Given the description of an element on the screen output the (x, y) to click on. 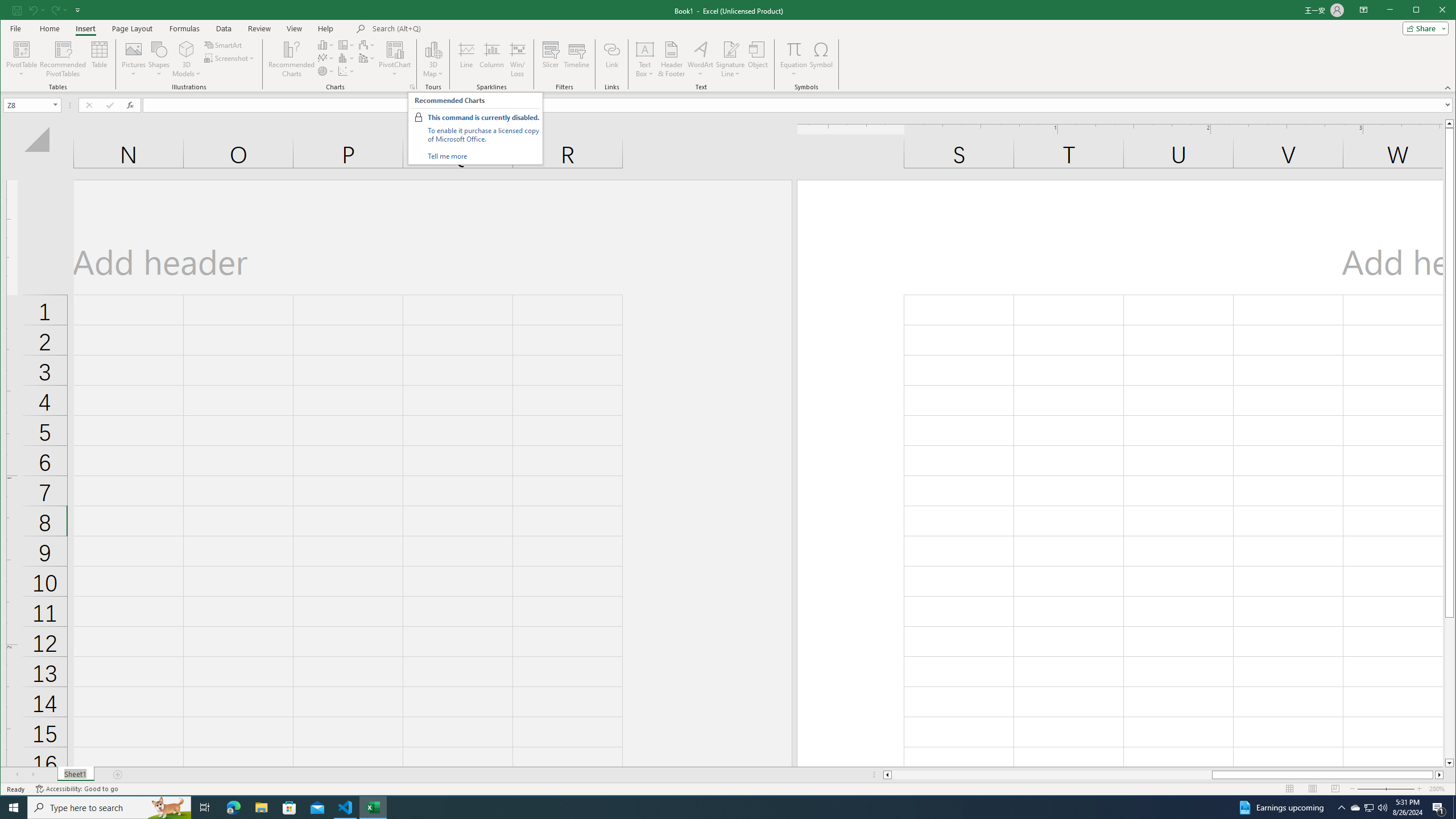
Notification Chevron (1341, 807)
Header & Footer... (1355, 807)
Microsoft Store (670, 59)
PivotTable (289, 807)
Symbol... (22, 48)
Win/Loss (821, 59)
Show desktop (517, 59)
Insert Scatter (X, Y) or Bubble Chart (1454, 807)
